Given the description of an element on the screen output the (x, y) to click on. 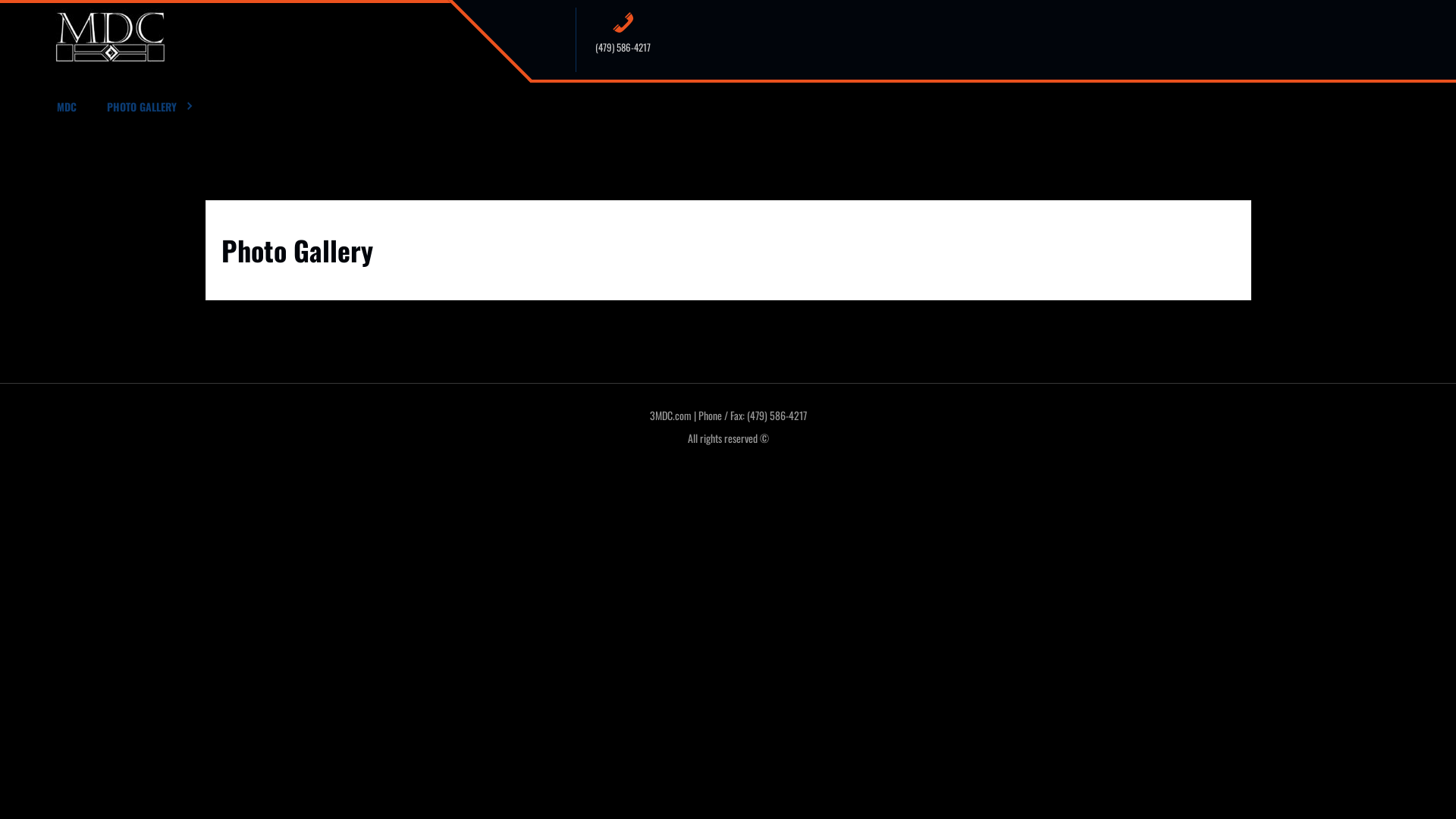
3MDC.com | Phone / Fax: (479) 586-4217 Element type: text (727, 415)
MDC Element type: text (70, 107)
PHOTO GALLERY Element type: text (150, 107)
